Given the description of an element on the screen output the (x, y) to click on. 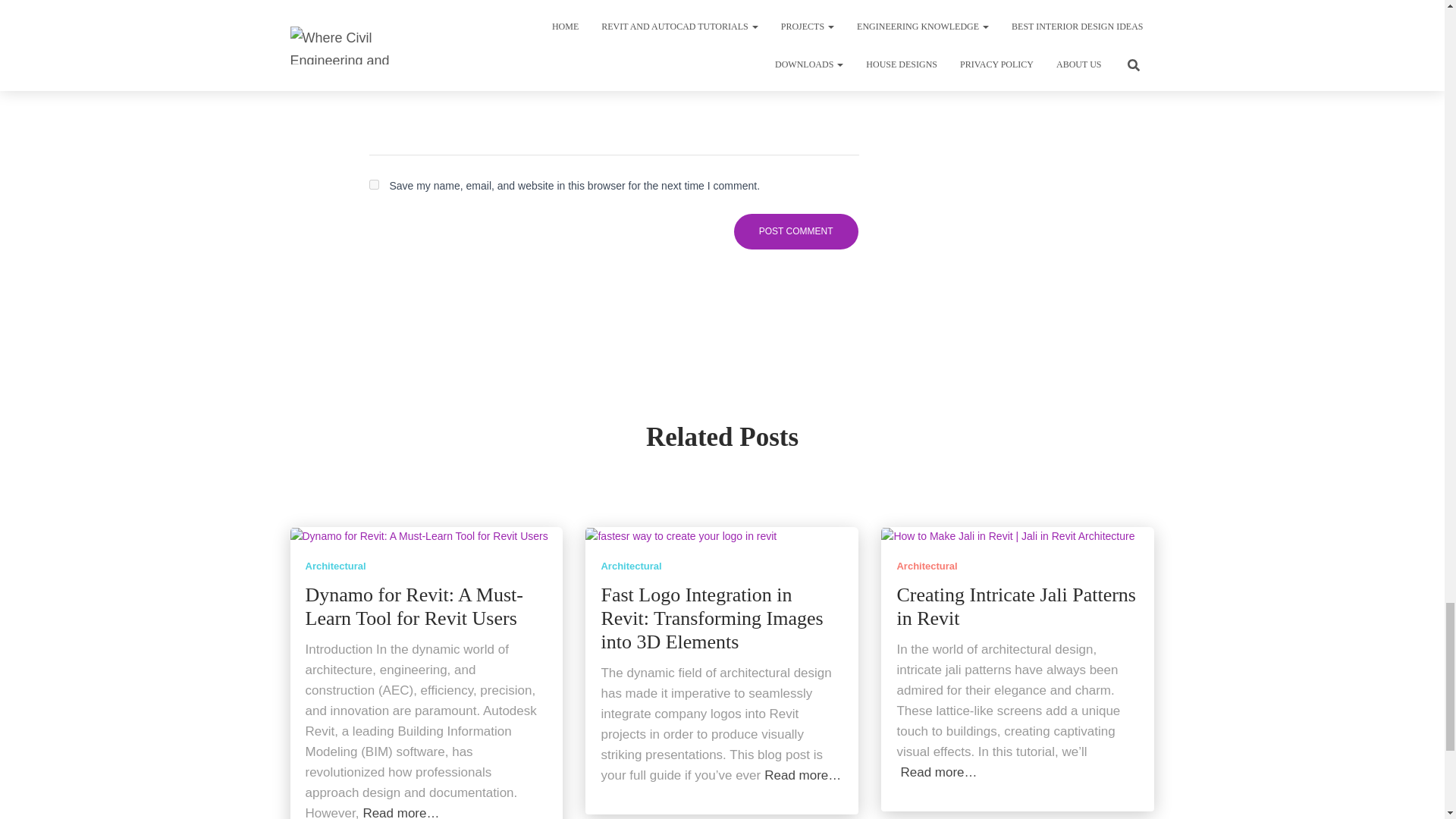
yes (373, 184)
Post Comment (796, 231)
Post Comment (796, 231)
